Given the description of an element on the screen output the (x, y) to click on. 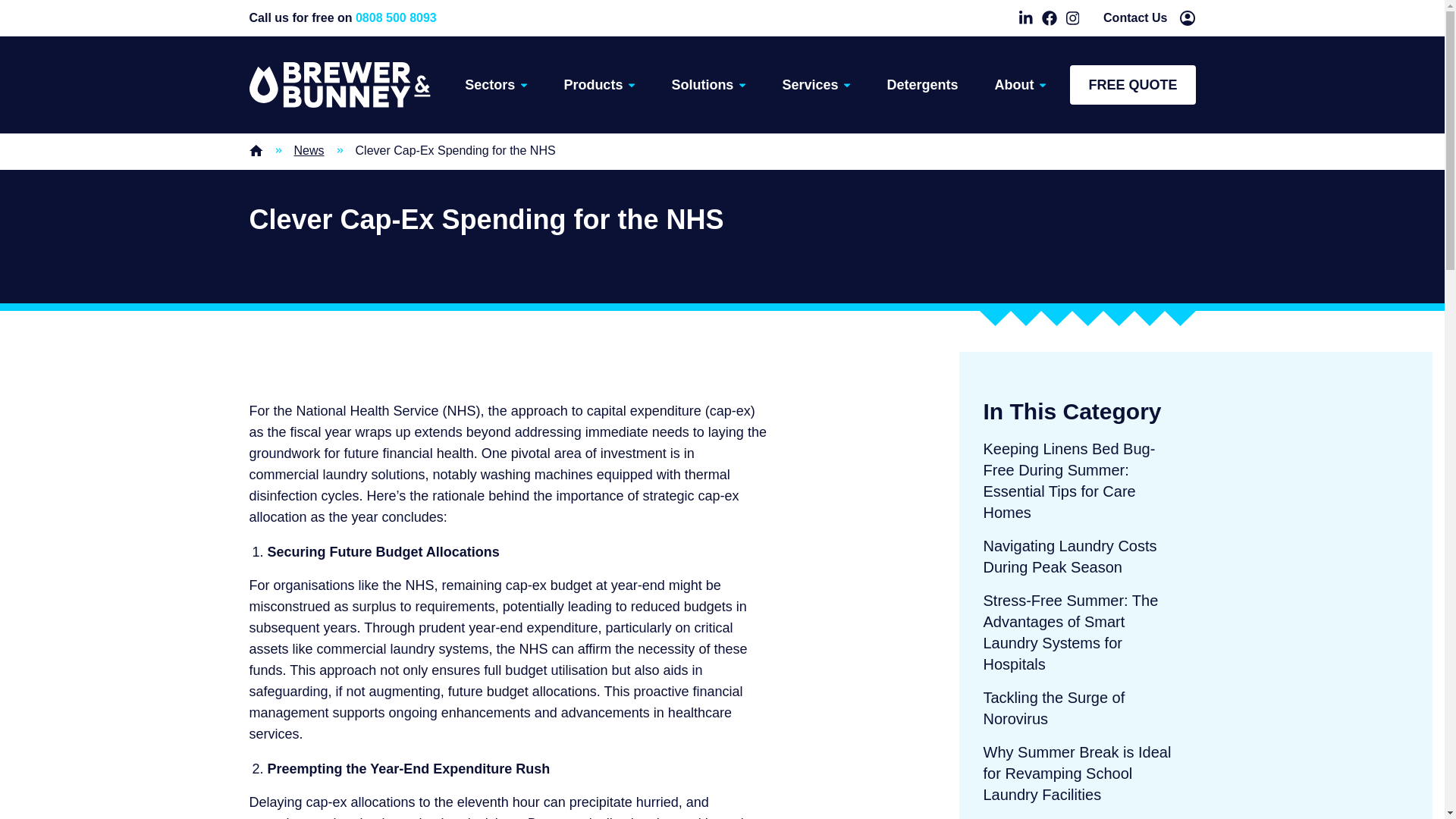
Facebook (1049, 17)
Services (815, 84)
Login Here (1187, 17)
Instagram (1072, 17)
0808 500 8093 (395, 17)
Contact Us (401, 150)
Solutions (1135, 18)
Products (708, 84)
LinkedIn (598, 84)
Sectors (1025, 17)
